Given the description of an element on the screen output the (x, y) to click on. 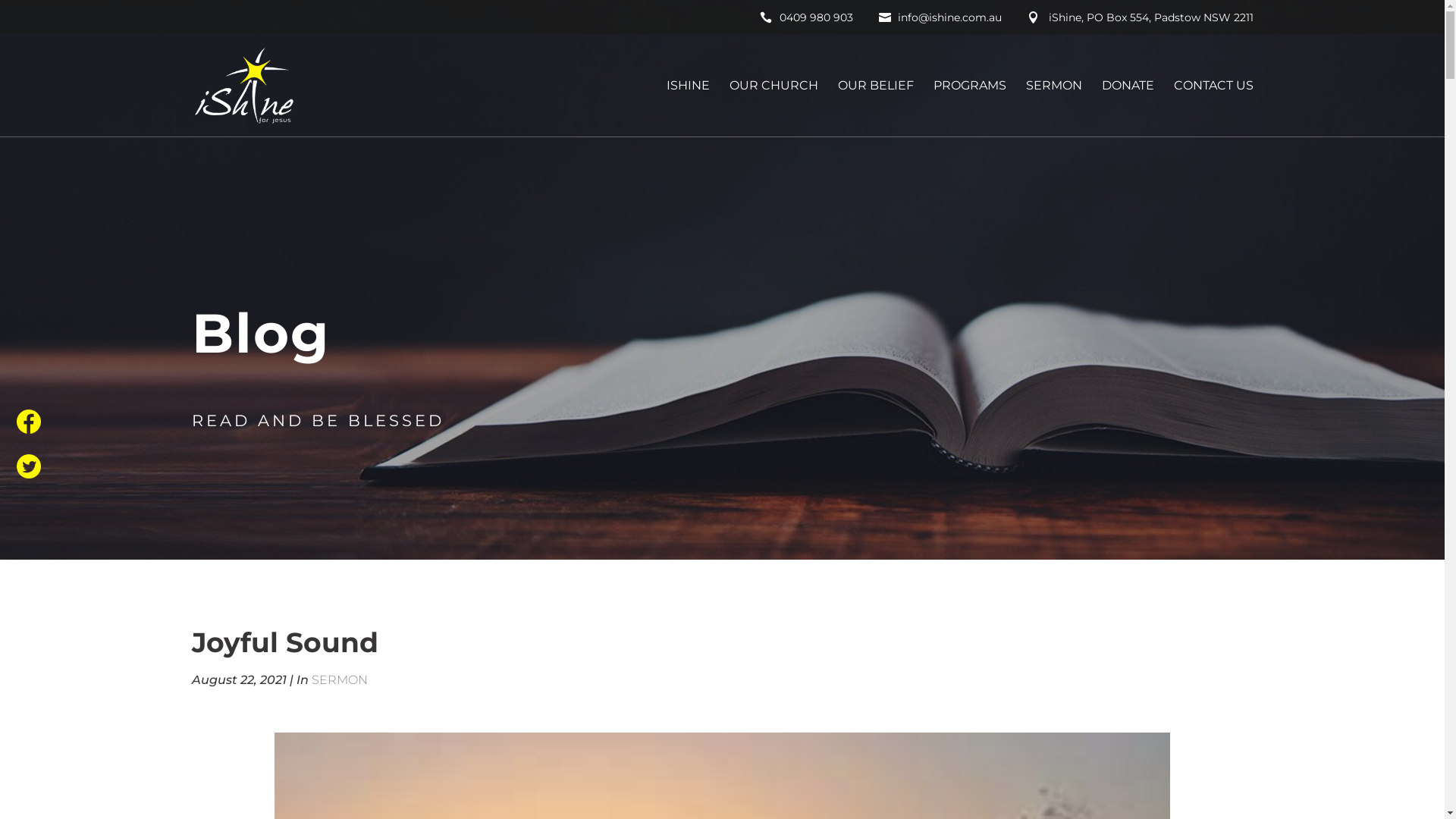
info@ishine.com.au Element type: text (939, 21)
OUR BELIEF Element type: text (875, 108)
PROGRAMS Element type: text (968, 108)
DONATE Element type: text (1127, 108)
OUR CHURCH Element type: text (773, 108)
iShine, PO Box 554, Padstow NSW 2211 Element type: text (1139, 21)
SERMON Element type: text (1053, 108)
0409 980 903 Element type: text (806, 21)
SERMON Element type: text (338, 679)
ISHINE Element type: text (687, 108)
CONTACT US Element type: text (1213, 108)
